Given the description of an element on the screen output the (x, y) to click on. 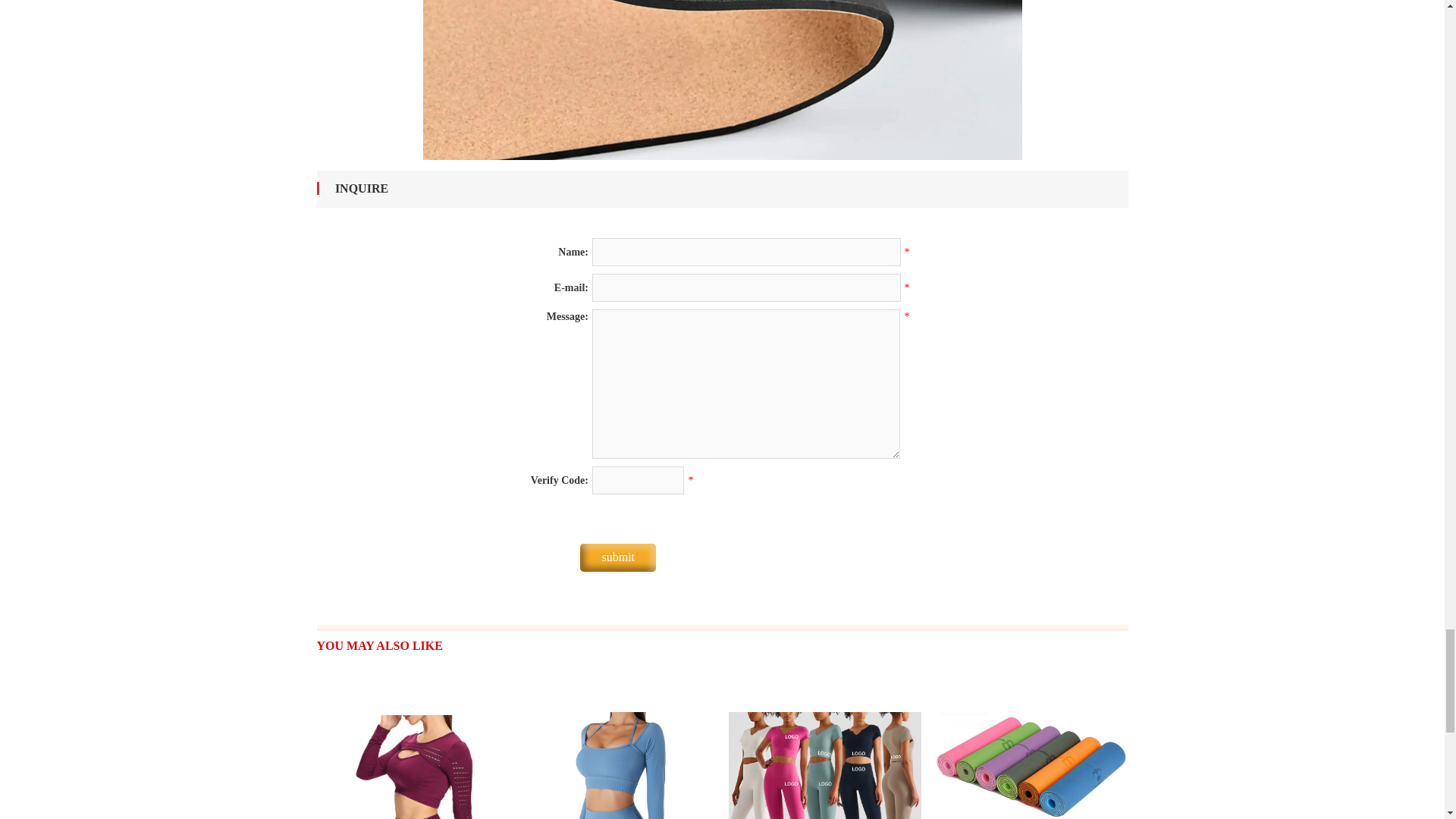
submit (617, 557)
